Given the description of an element on the screen output the (x, y) to click on. 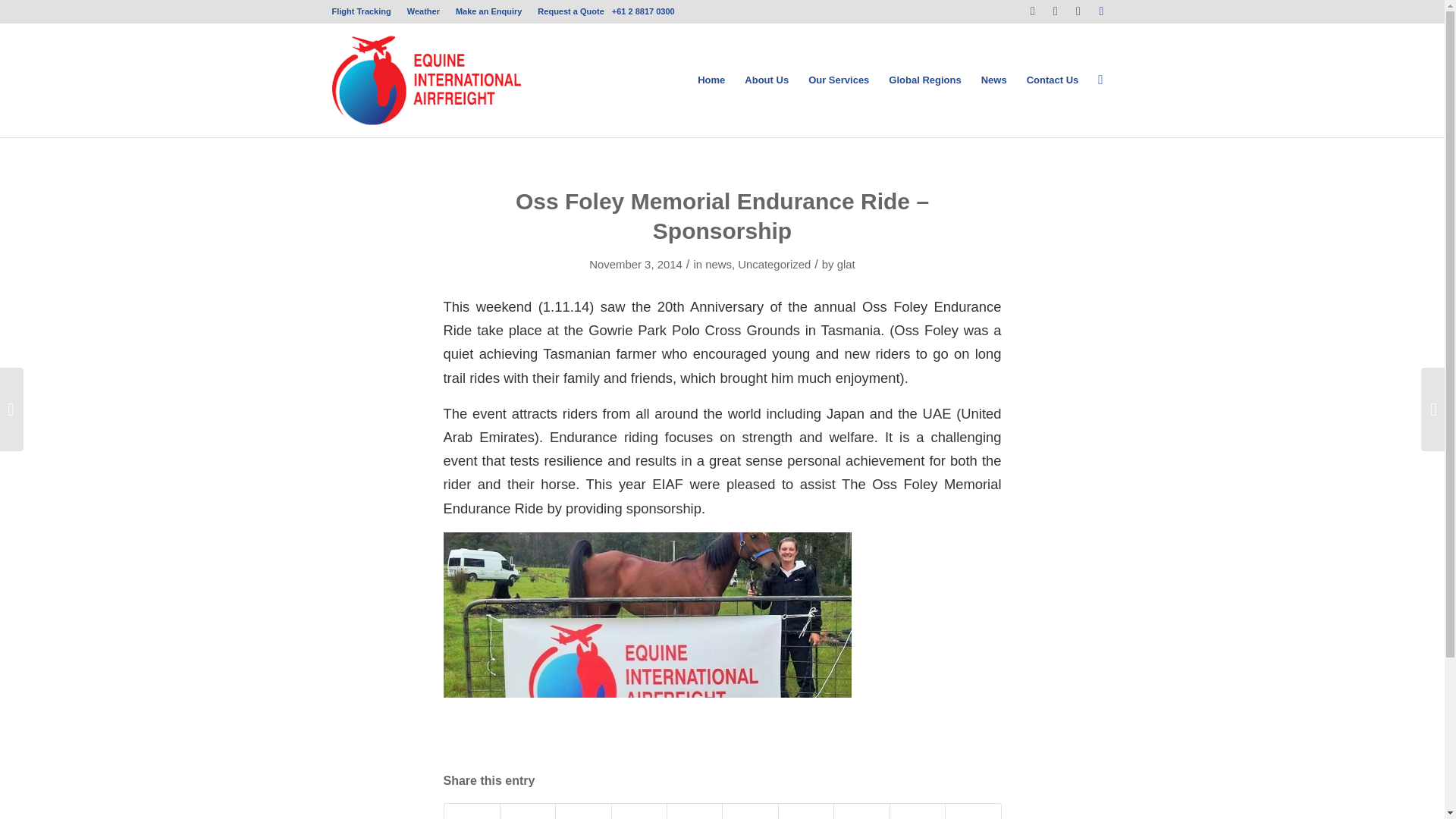
logo (426, 80)
LinkedIn (1101, 11)
Posts by glat (846, 264)
Weather (423, 11)
Instagram (1078, 11)
Twitter (1056, 11)
Request a Quote (570, 11)
Facebook (1032, 11)
Make an Enquiry (488, 11)
Flight Tracking (361, 11)
